Given the description of an element on the screen output the (x, y) to click on. 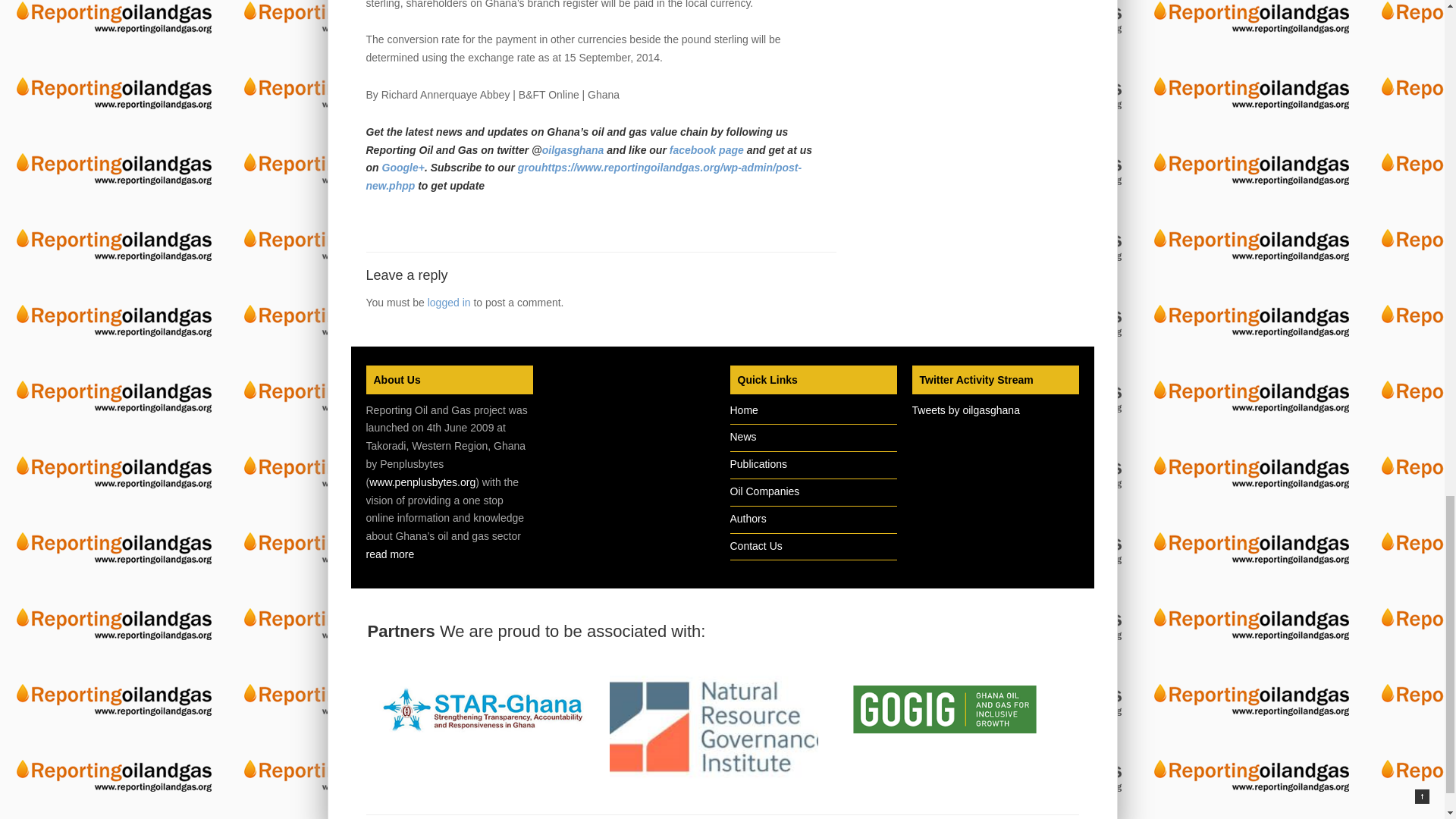
facebook page  (707, 150)
oilgasghana (572, 150)
